Given the description of an element on the screen output the (x, y) to click on. 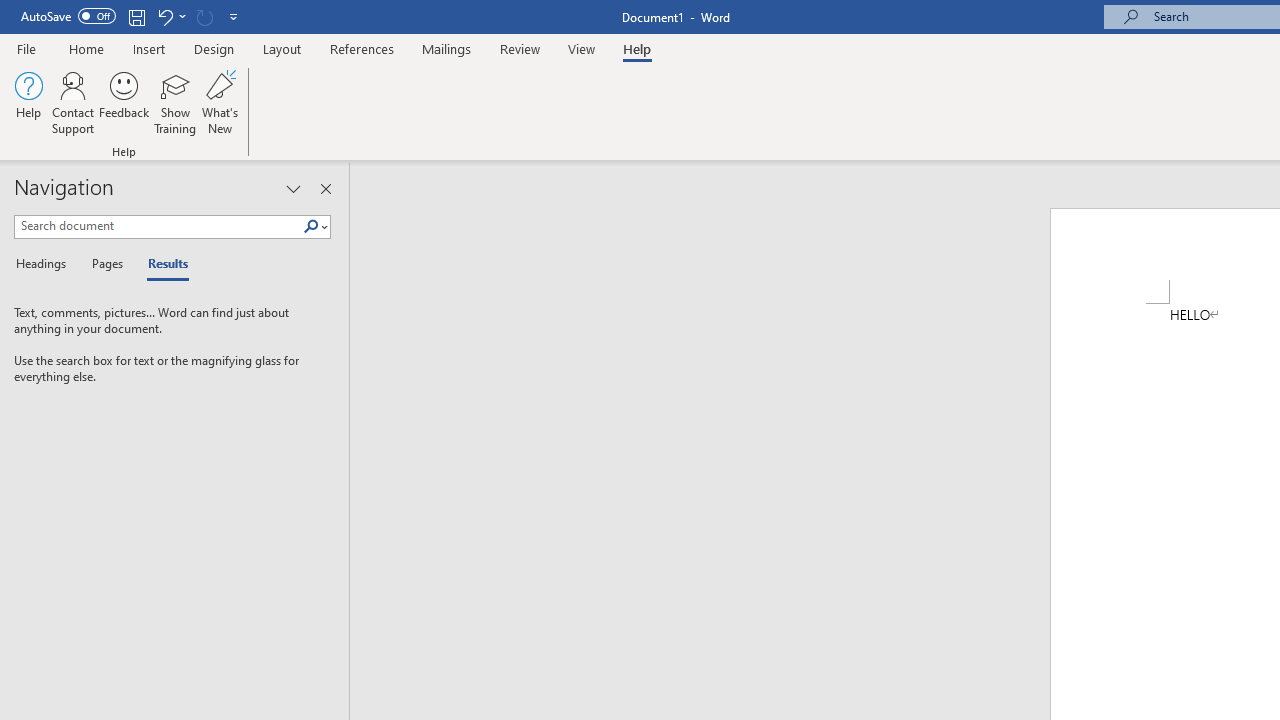
Show Training (175, 102)
AutoSave (68, 16)
Results (161, 264)
Undo Typing (164, 15)
View (582, 48)
References (362, 48)
Undo Typing (170, 15)
Task Pane Options (293, 188)
Close pane (325, 188)
Class: NetUIImage (311, 226)
Mailings (447, 48)
Search (311, 227)
Save (136, 15)
Review (520, 48)
Search document (157, 226)
